Given the description of an element on the screen output the (x, y) to click on. 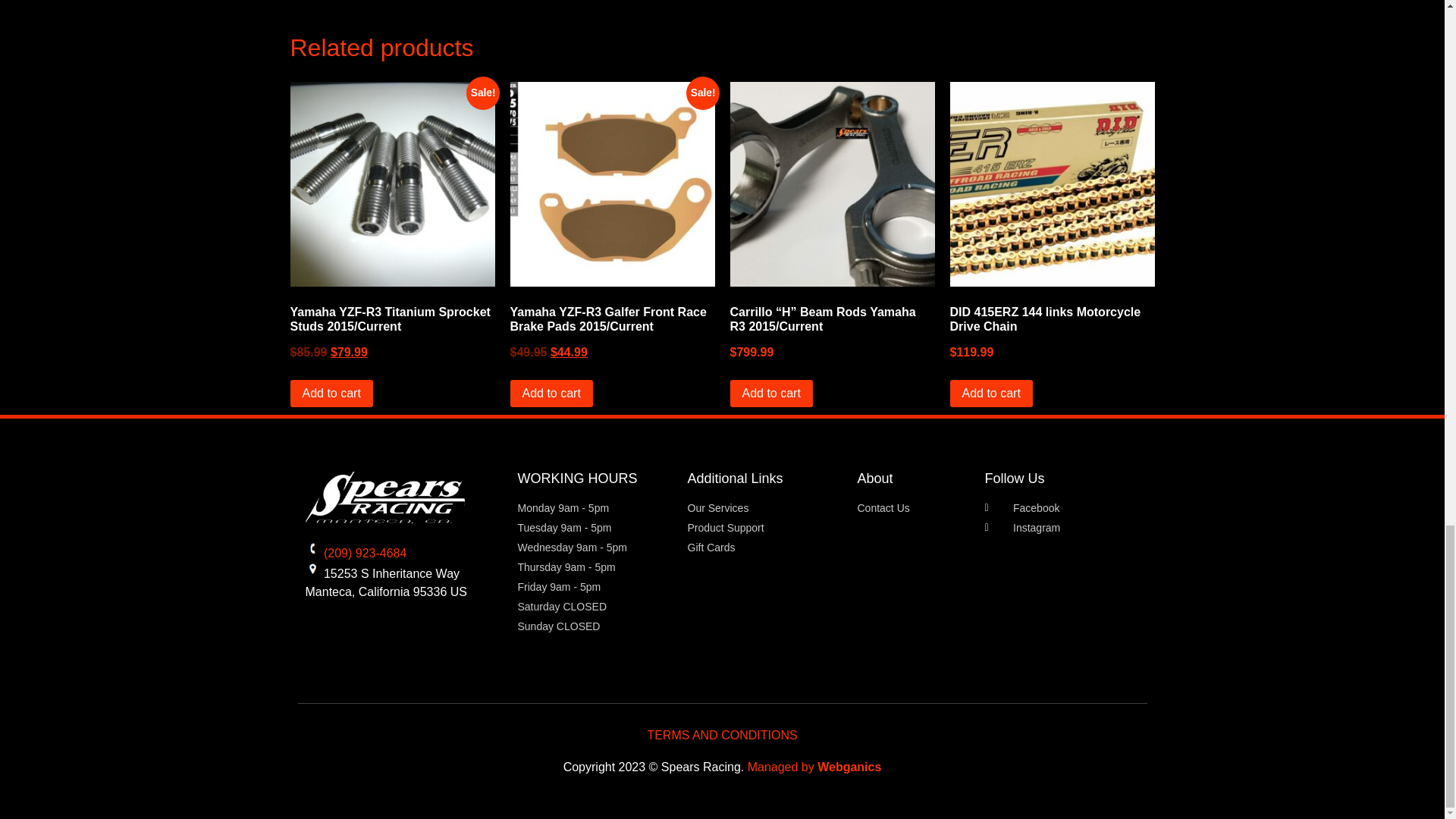
Spears Racing Phone Number (364, 553)
